Given the description of an element on the screen output the (x, y) to click on. 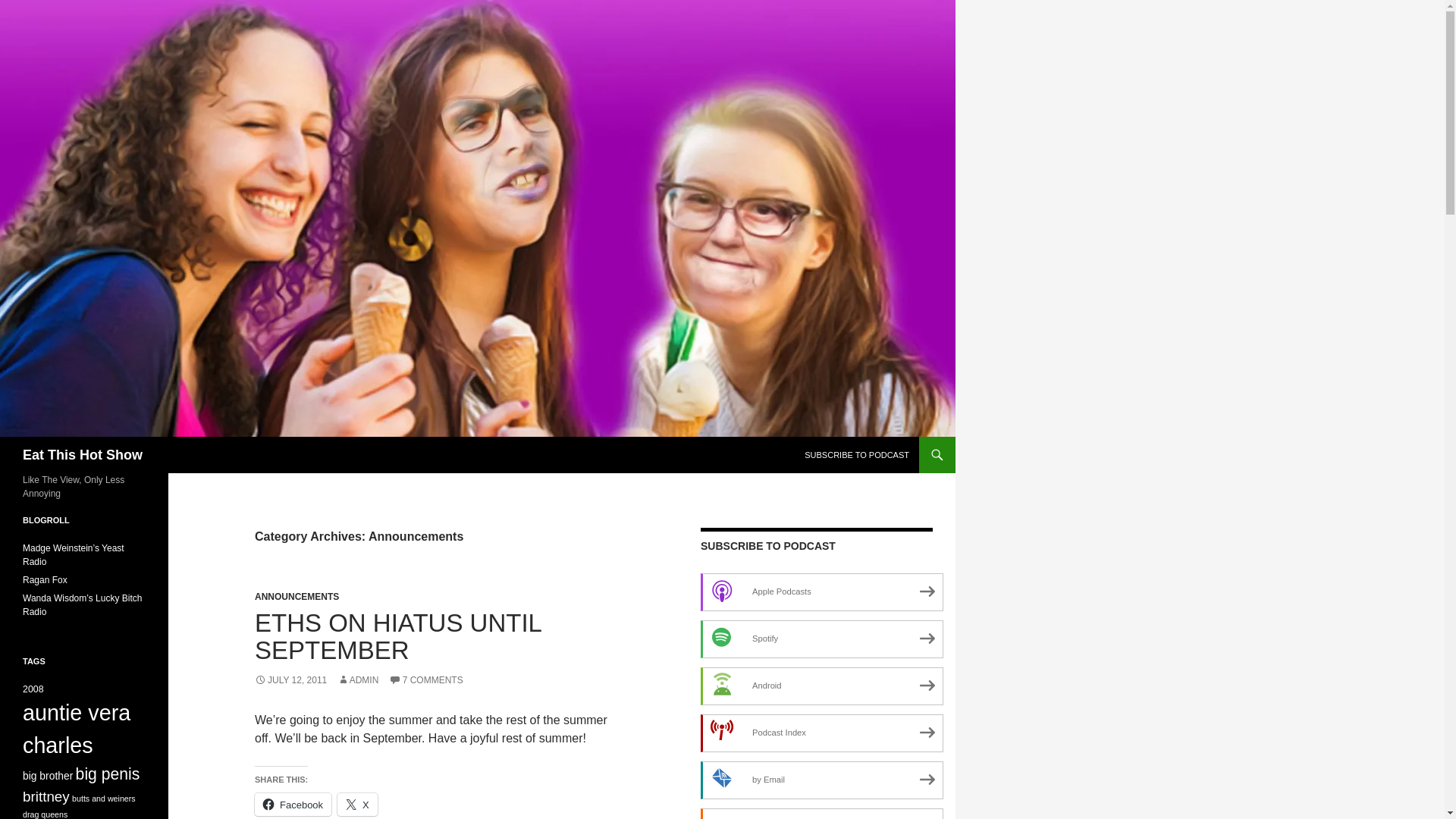
JULY 12, 2011 (290, 679)
Click to share on X (357, 804)
ANNOUNCEMENTS (296, 596)
7 COMMENTS (425, 679)
Facebook (292, 804)
Click to share on Facebook (292, 804)
SUBSCRIBE TO PODCAST (856, 454)
X (357, 804)
Eat This Hot Show (82, 454)
Subscribe on Apple Podcasts (821, 591)
ADMIN (357, 679)
ETHS ON HIATUS UNTIL SEPTEMBER (397, 636)
Subscribe on Spotify (821, 638)
